Given the description of an element on the screen output the (x, y) to click on. 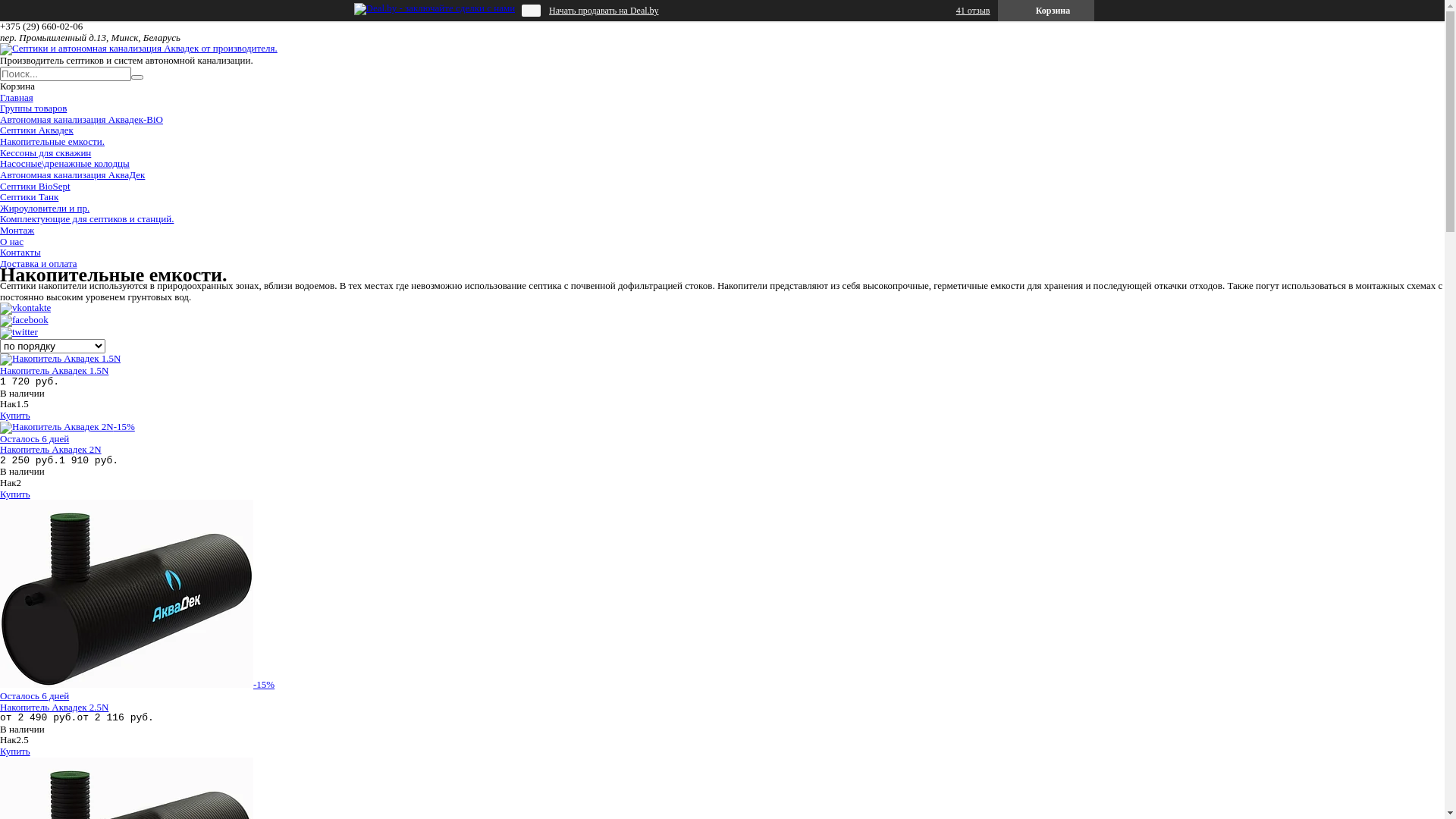
twitter Element type: hover (18, 331)
facebook Element type: hover (24, 319)
